Given the description of an element on the screen output the (x, y) to click on. 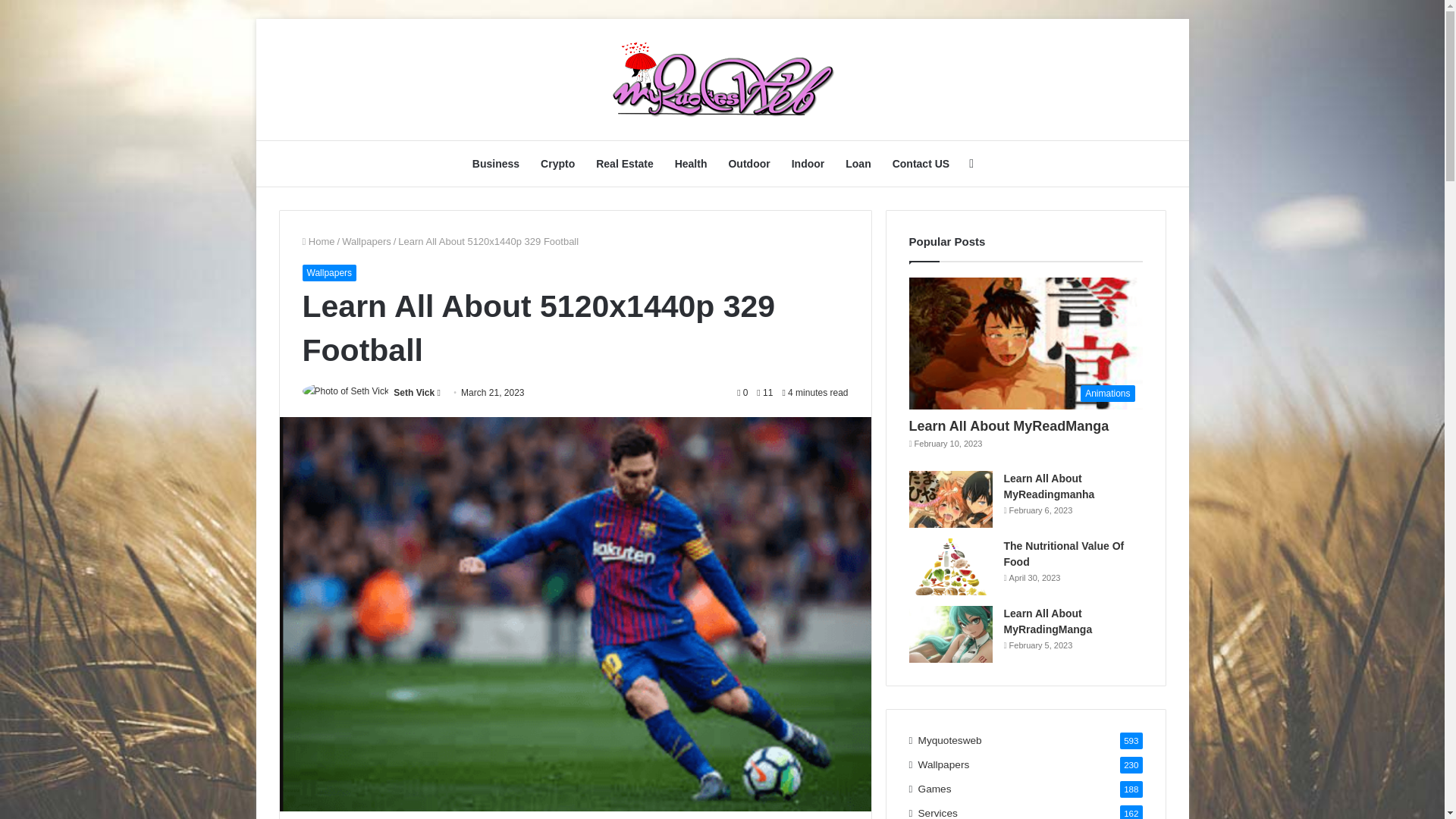
Business (495, 163)
Home (317, 241)
My Quotes Web (721, 79)
Seth Vick (413, 392)
Loan (857, 163)
Seth Vick (413, 392)
Outdoor (748, 163)
Health (690, 163)
Wallpapers (328, 272)
Crypto (557, 163)
